Given the description of an element on the screen output the (x, y) to click on. 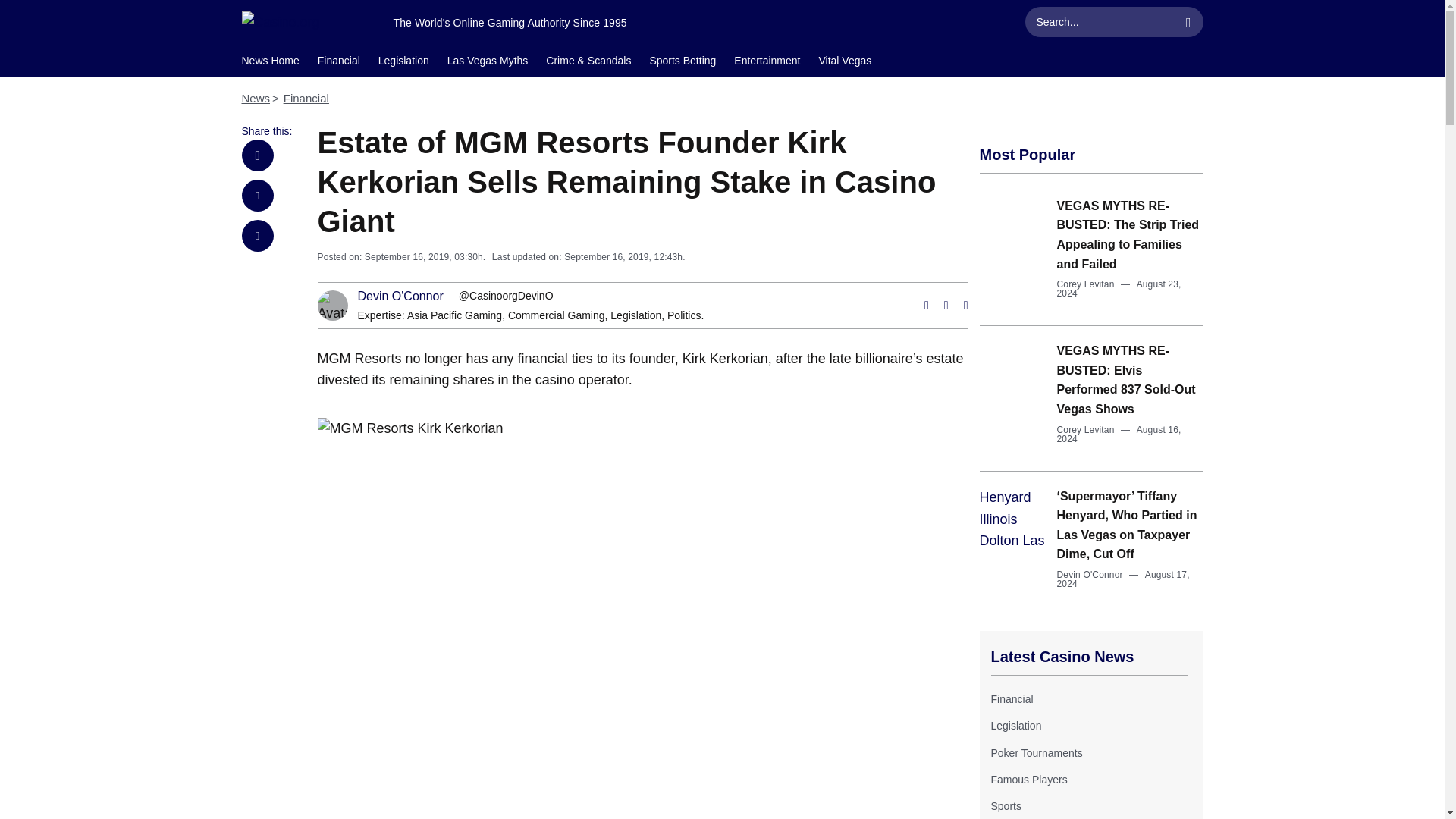
Financial (1011, 698)
News Home (269, 61)
Famous Players (1028, 779)
Entertainment (766, 61)
Financial (338, 61)
Las Vegas Myths (487, 61)
Corey Levitan (1086, 284)
Poker Tournaments (1035, 752)
Sports Betting (682, 61)
Devin O'Connor (401, 296)
